Given the description of an element on the screen output the (x, y) to click on. 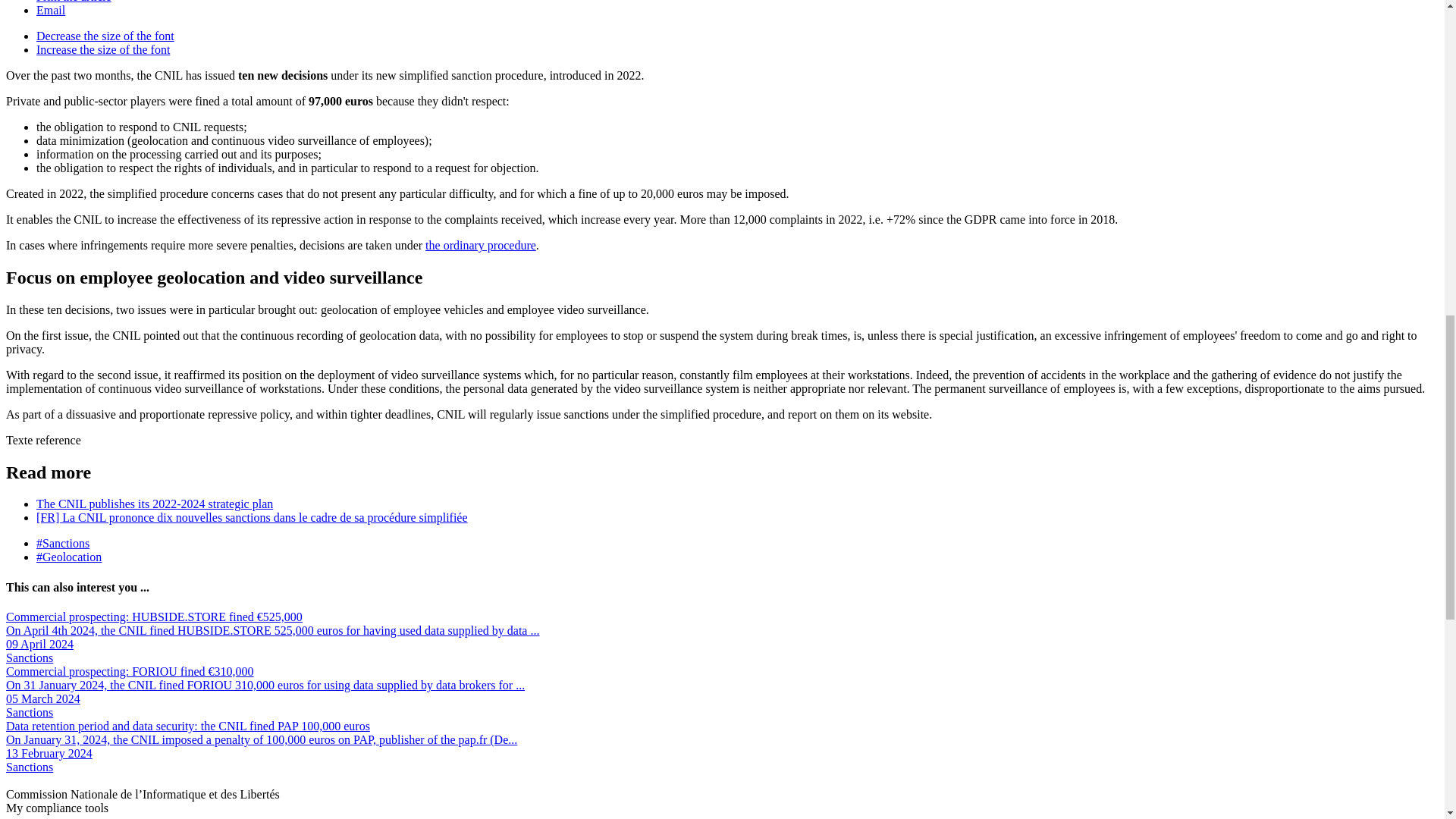
The sanctions procedure - New window (480, 245)
The CNIL publishes its 2022-2024 strategic plan (154, 503)
